Given the description of an element on the screen output the (x, y) to click on. 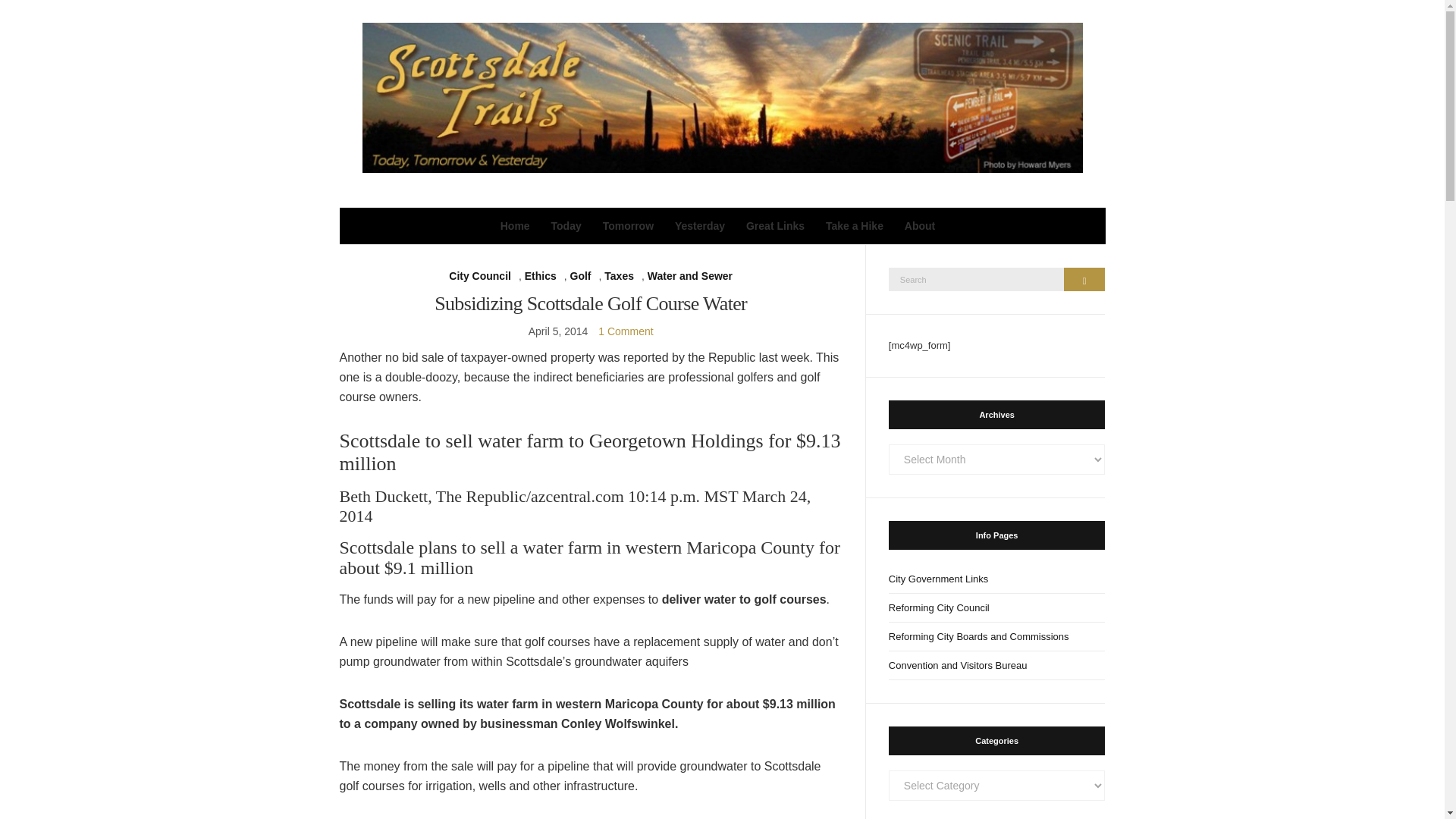
Take a Hike (854, 226)
Great Links (775, 226)
1 Comment (625, 331)
City Council (479, 276)
Golf (580, 276)
Tomorrow (627, 226)
Taxes (618, 276)
Ethics (540, 276)
Search (1084, 279)
Yesterday (700, 226)
